Given the description of an element on the screen output the (x, y) to click on. 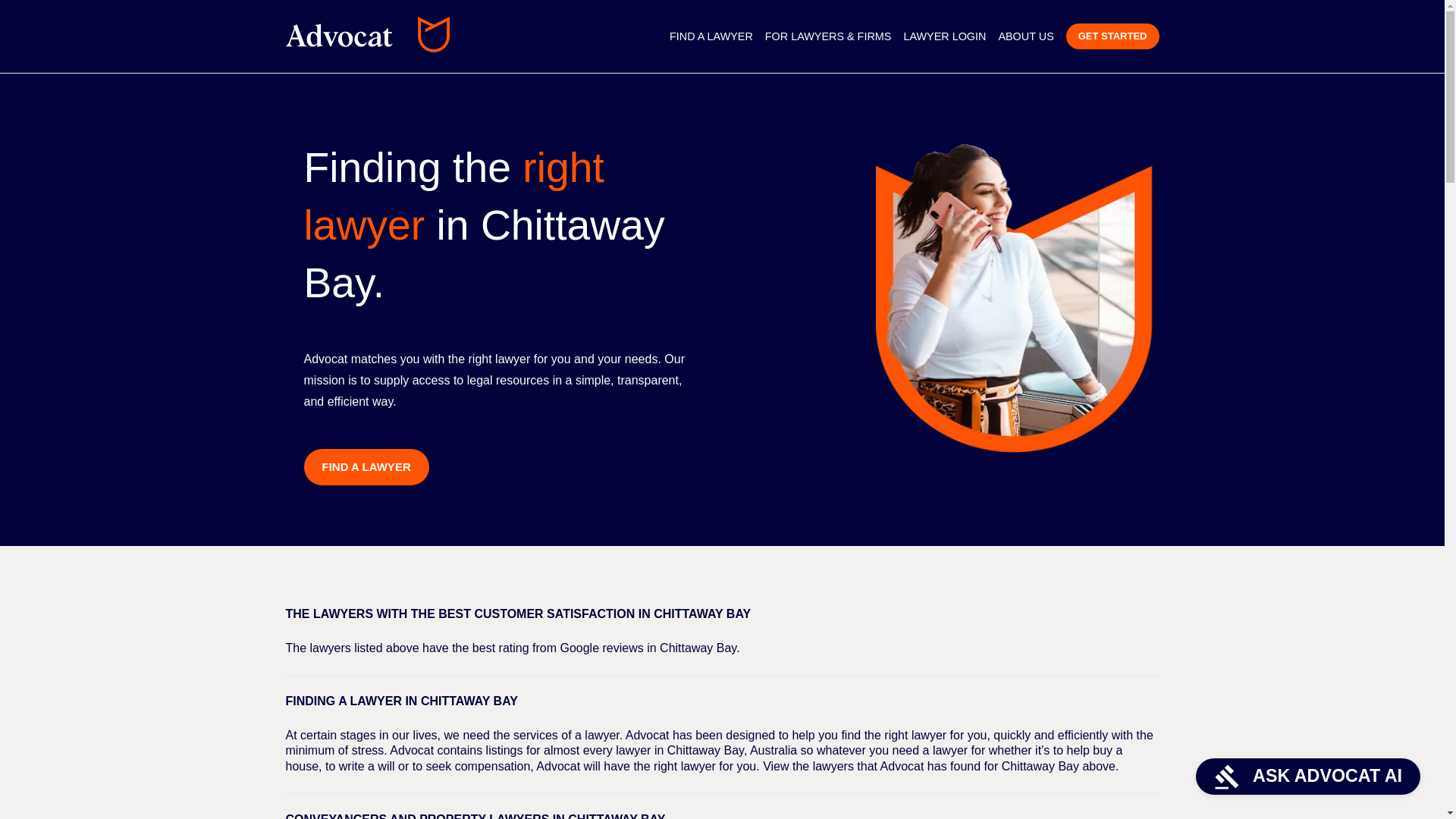
LAWYER LOGIN (943, 36)
ABOUT US (1024, 36)
FIND A LAWYER (365, 466)
FIND A LAWYER (710, 36)
ASK ADVOCAT AI (1308, 776)
GET STARTED (1111, 36)
